Given the description of an element on the screen output the (x, y) to click on. 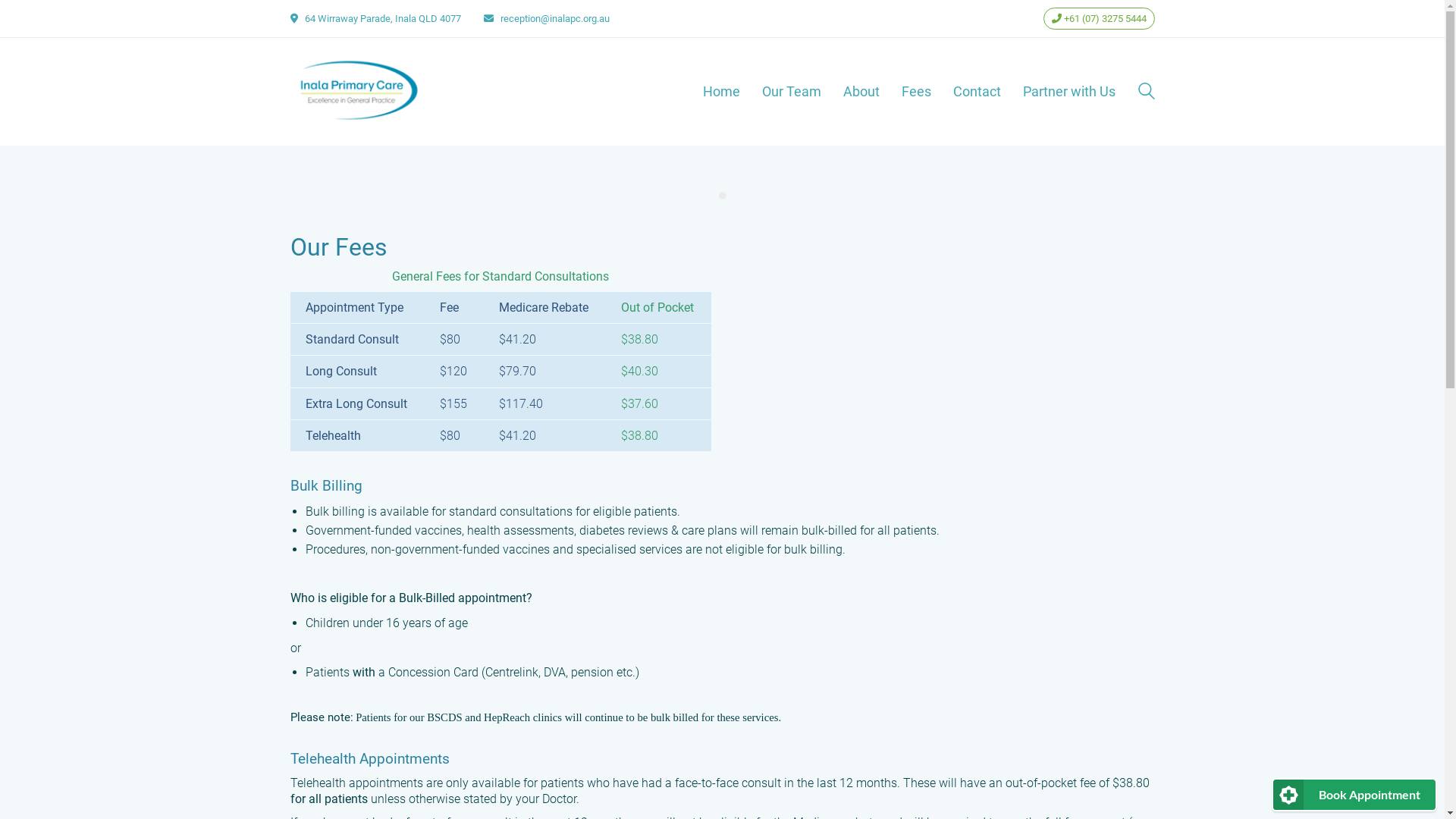
64 Wirraway Parade, Inala QLD 4077 Element type: text (382, 18)
Our Team Element type: text (790, 91)
Book Appointment Element type: text (1354, 794)
About Element type: text (861, 91)
reception@inalapc.org.au Element type: text (554, 18)
Contact Element type: text (976, 91)
Fees Element type: text (915, 91)
Partner with Us Element type: text (1068, 91)
+61 (07) 3275 5444 Element type: text (1098, 18)
Home Element type: text (720, 91)
